Given the description of an element on the screen output the (x, y) to click on. 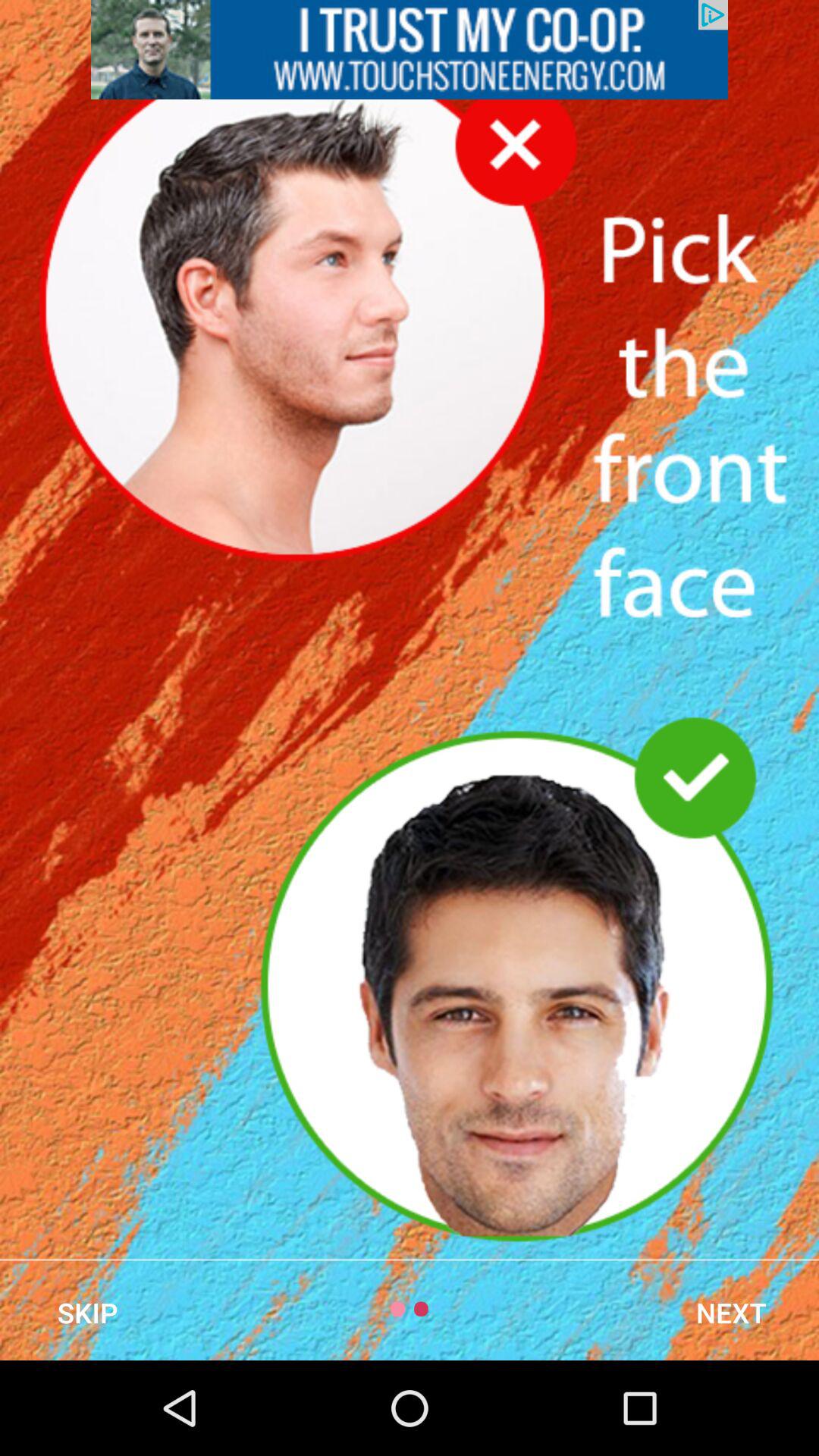
advertisement page (409, 49)
